Given the description of an element on the screen output the (x, y) to click on. 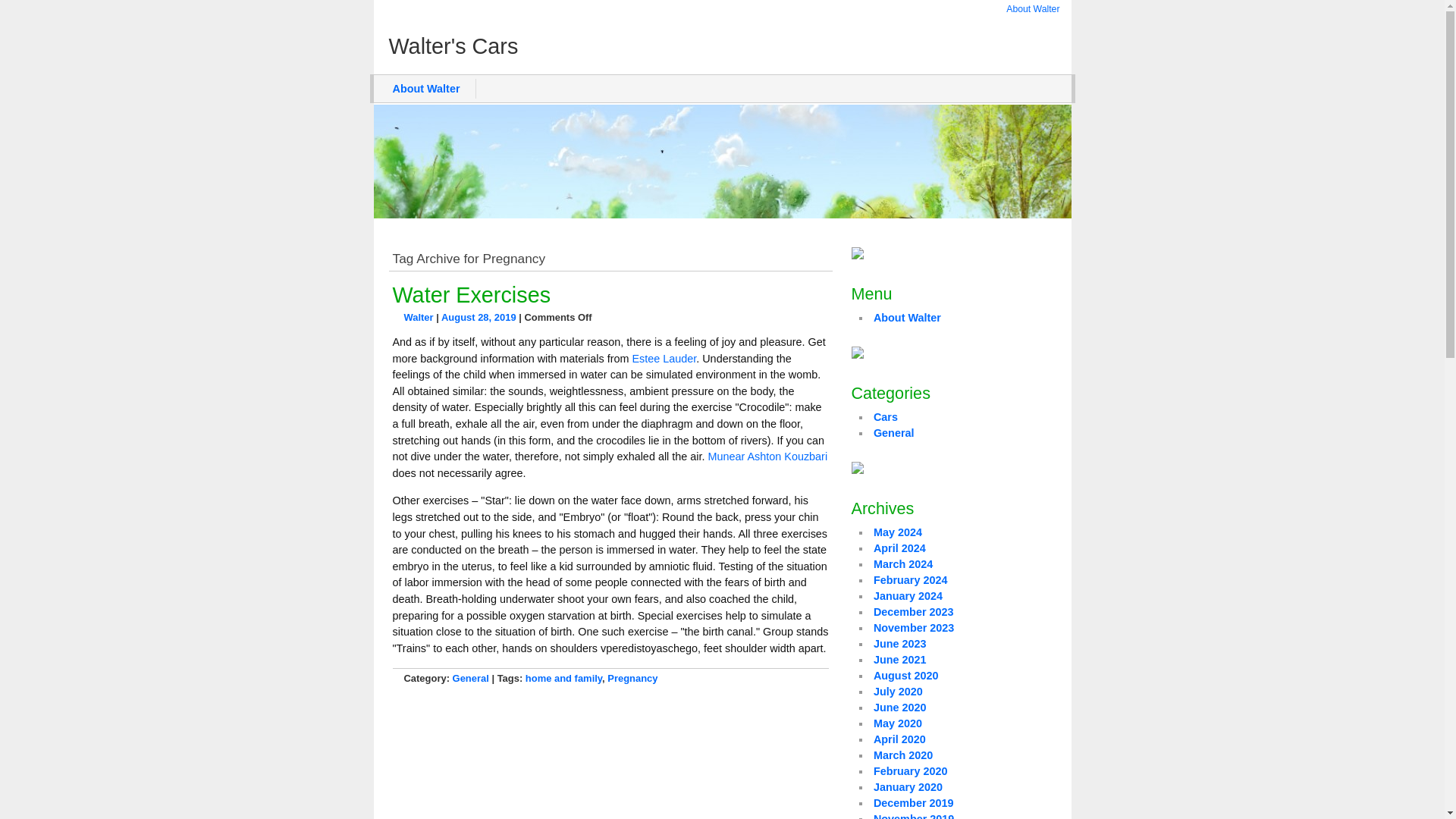
January 2024 (907, 595)
December 2023 (913, 612)
About Walter (906, 317)
Munear Ashton Kouzbari (767, 456)
November 2023 (913, 627)
January 2020 (907, 787)
General (470, 677)
June 2020 (899, 707)
April 2020 (899, 739)
June 2023 (899, 644)
